Given the description of an element on the screen output the (x, y) to click on. 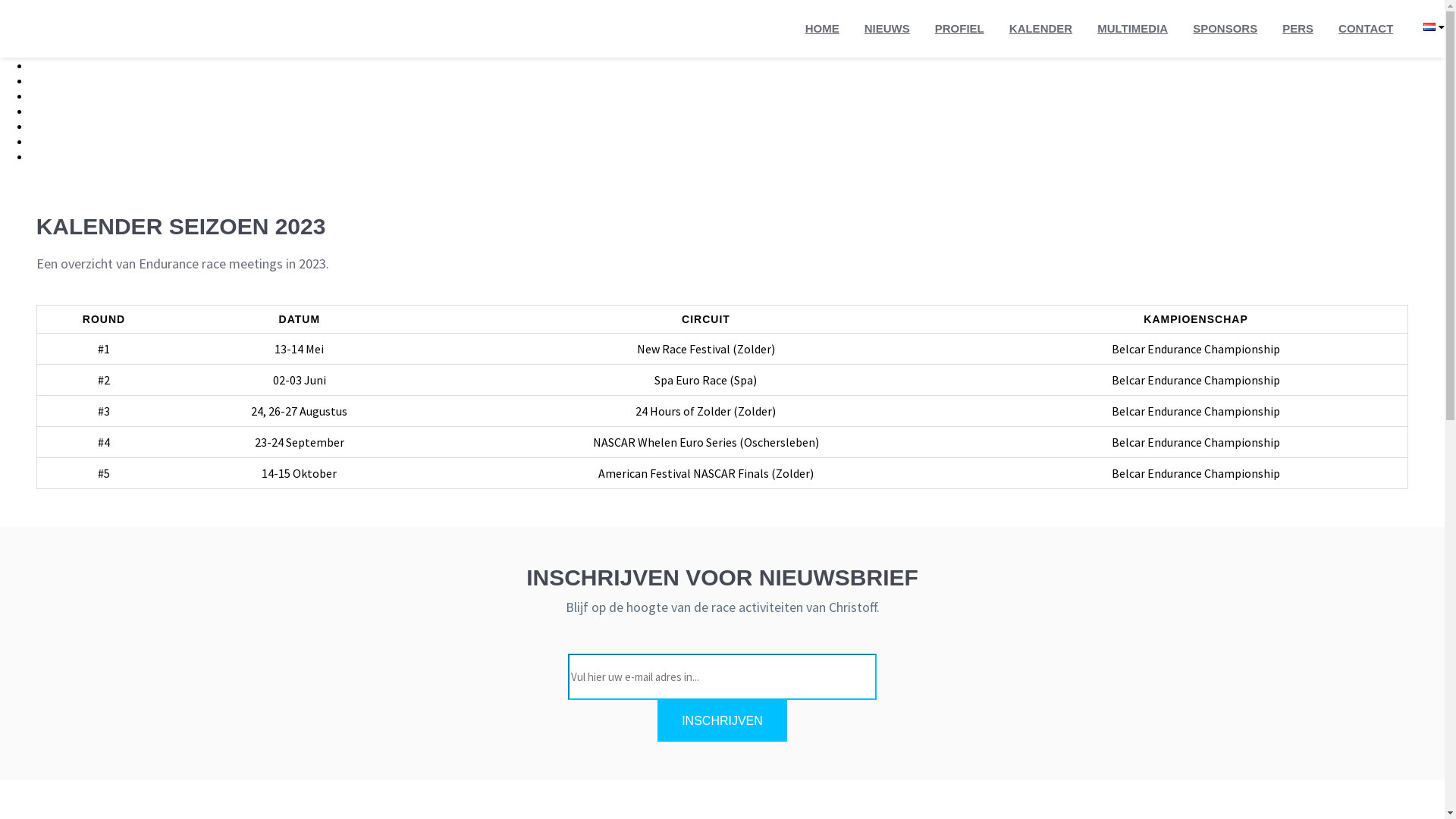
  Element type: text (1433, 38)
CONTACT Element type: text (1365, 28)
INSCHRIJVEN Element type: text (722, 720)
MULTIMEDIA Element type: text (1132, 28)
HOME Element type: text (821, 28)
PROFIEL Element type: text (959, 28)
PERS Element type: text (1297, 28)
KALENDER Element type: text (1040, 28)
NIEUWS Element type: text (887, 28)
SPONSORS Element type: text (1224, 28)
